Given the description of an element on the screen output the (x, y) to click on. 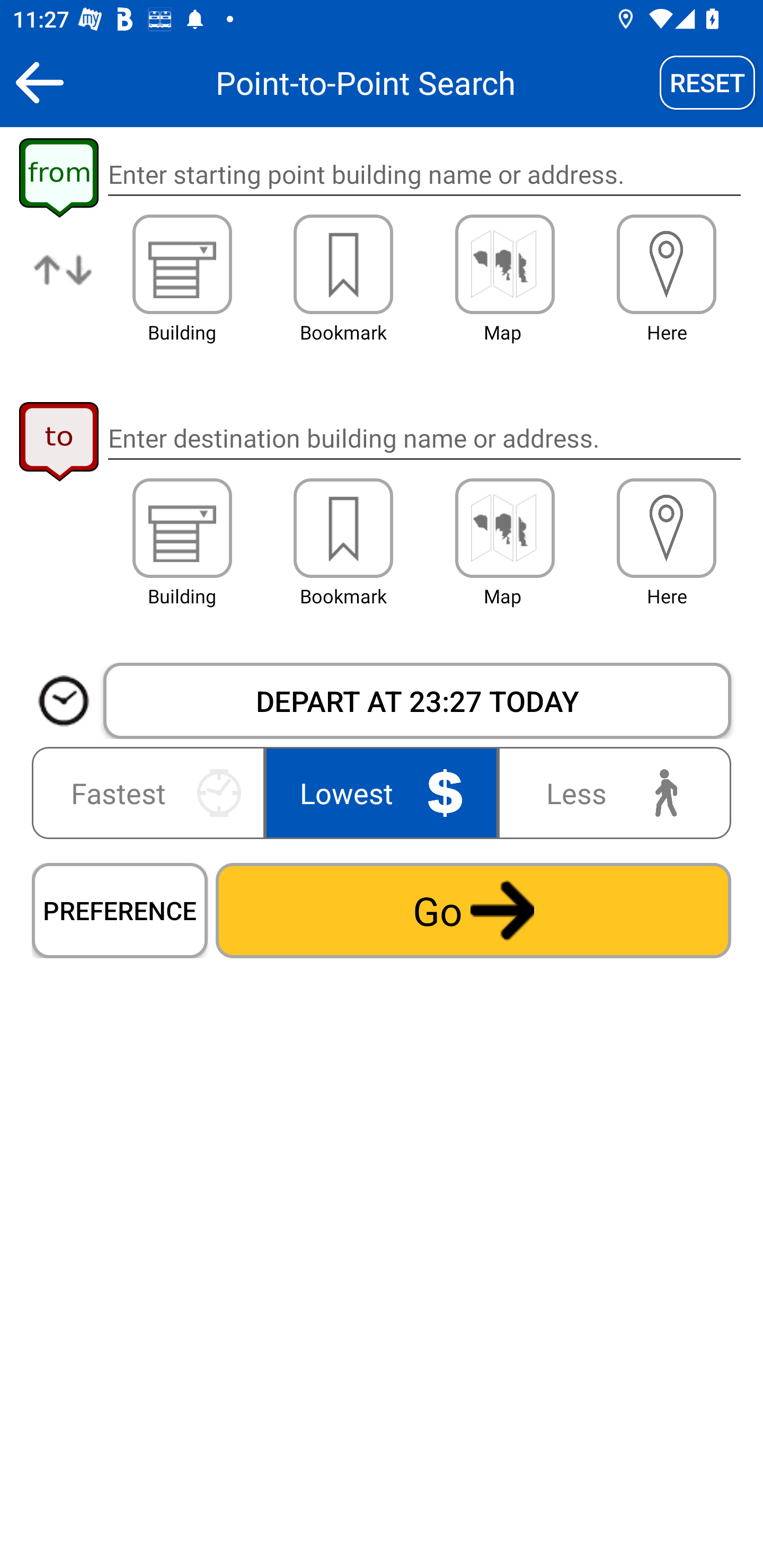
Back (39, 82)
RESET Reset (707, 81)
Enter starting point building name or address. (423, 174)
Building (181, 263)
Bookmarks (342, 263)
Select location on map (504, 263)
Here (666, 263)
Swap origin and destination (63, 284)
Enter destination building name or address. (423, 437)
Building (181, 528)
Bookmarks (342, 528)
Select location on map (504, 528)
Here (666, 528)
Lowest selected (381, 792)
Fastest (151, 792)
Less (610, 792)
PREFERENCE Preference (119, 910)
Go (472, 910)
